Given the description of an element on the screen output the (x, y) to click on. 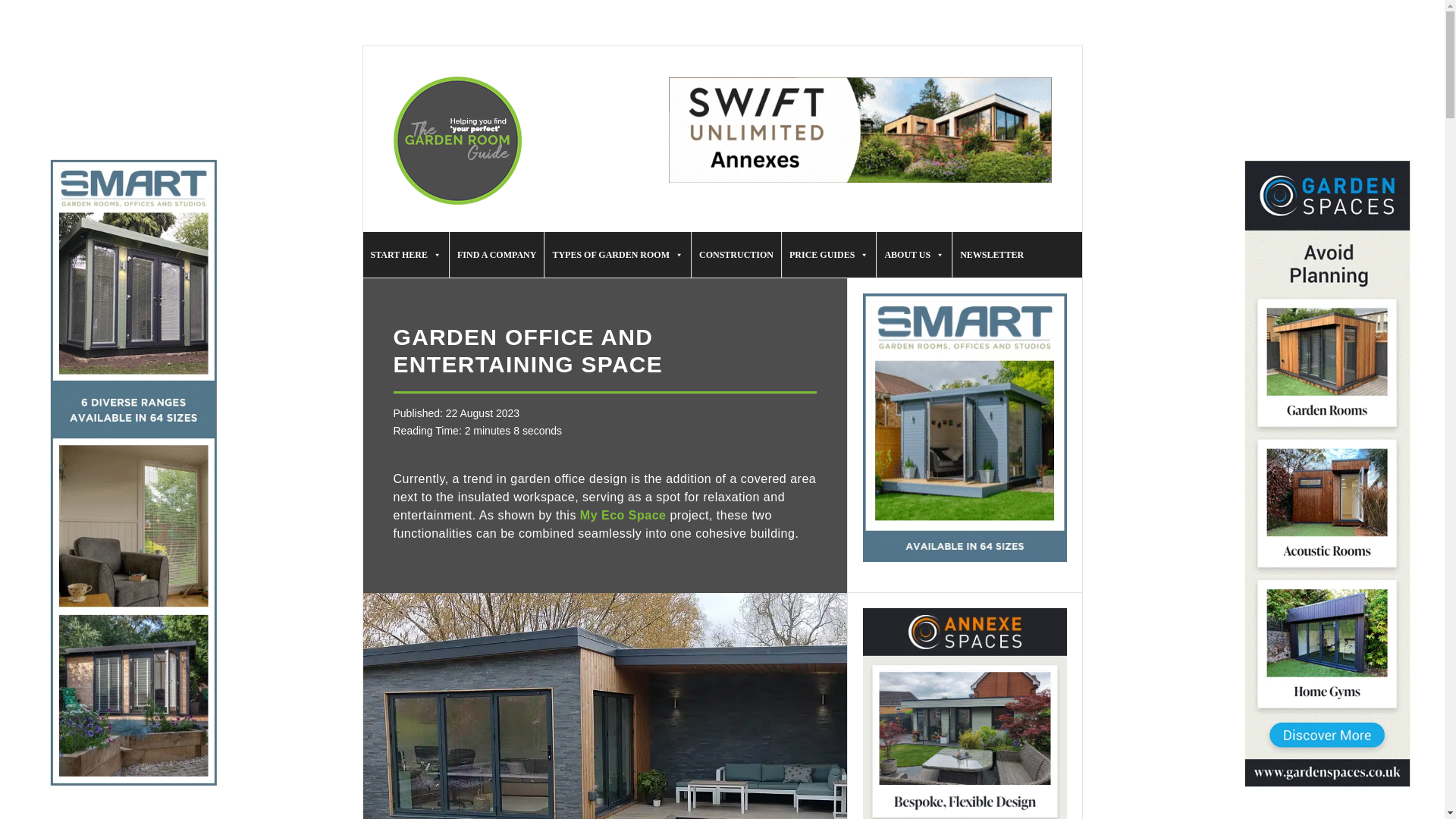
Slate clad garden office by My Eco Space-4 (603, 705)
TYPES OF GARDEN ROOM (617, 254)
START HERE (405, 254)
2021 TGRG Logo (457, 140)
FIND A COMPANY (496, 254)
